Given the description of an element on the screen output the (x, y) to click on. 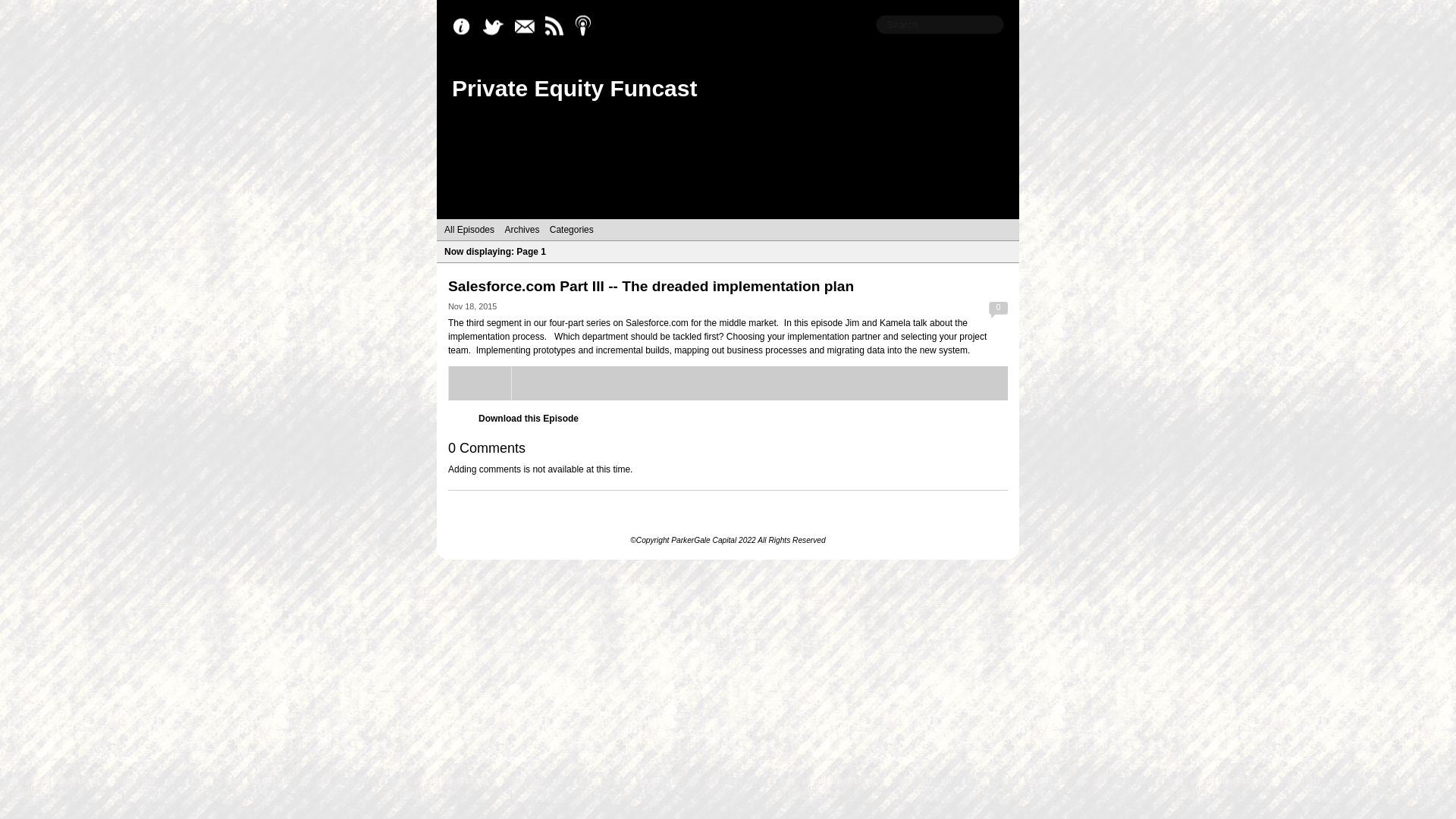
Subscribe in Apple Podcasts (588, 26)
Private Equity Funcast (574, 88)
Twitter (496, 26)
RSS Feed (558, 26)
Email (527, 26)
Libsyn Player (727, 383)
